Given the description of an element on the screen output the (x, y) to click on. 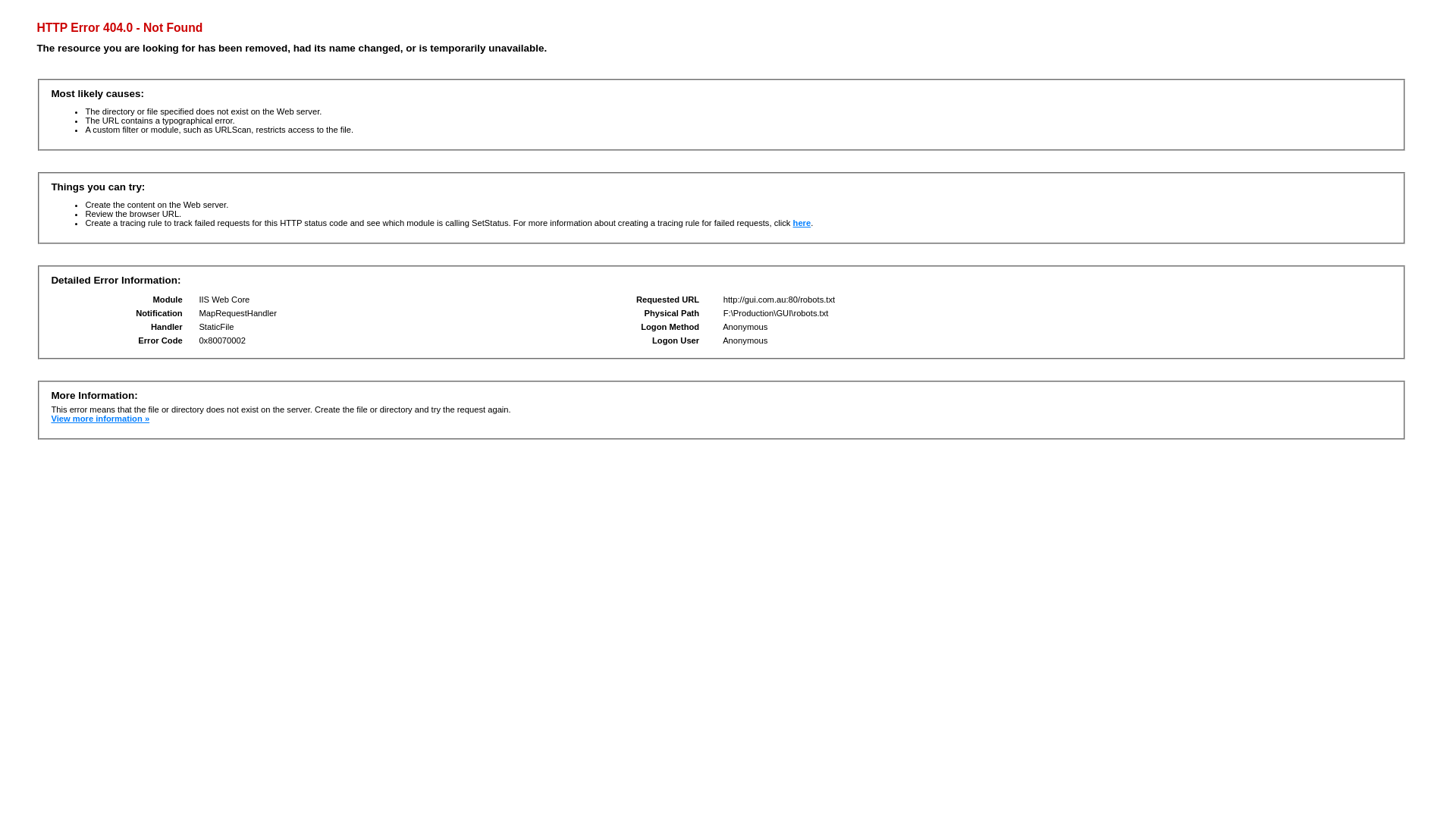
here Element type: text (802, 222)
